Given the description of an element on the screen output the (x, y) to click on. 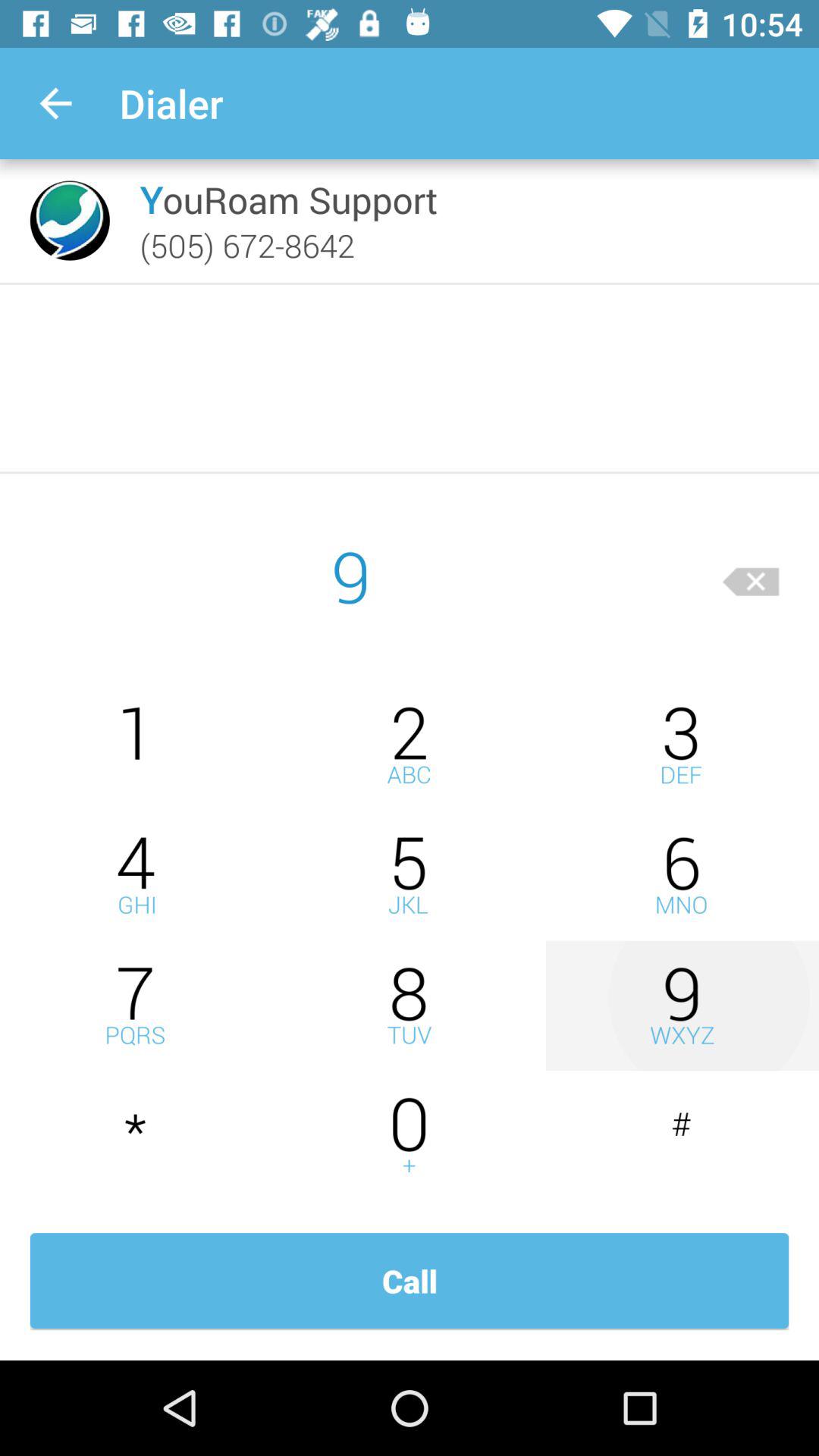
delete character (750, 575)
